Given the description of an element on the screen output the (x, y) to click on. 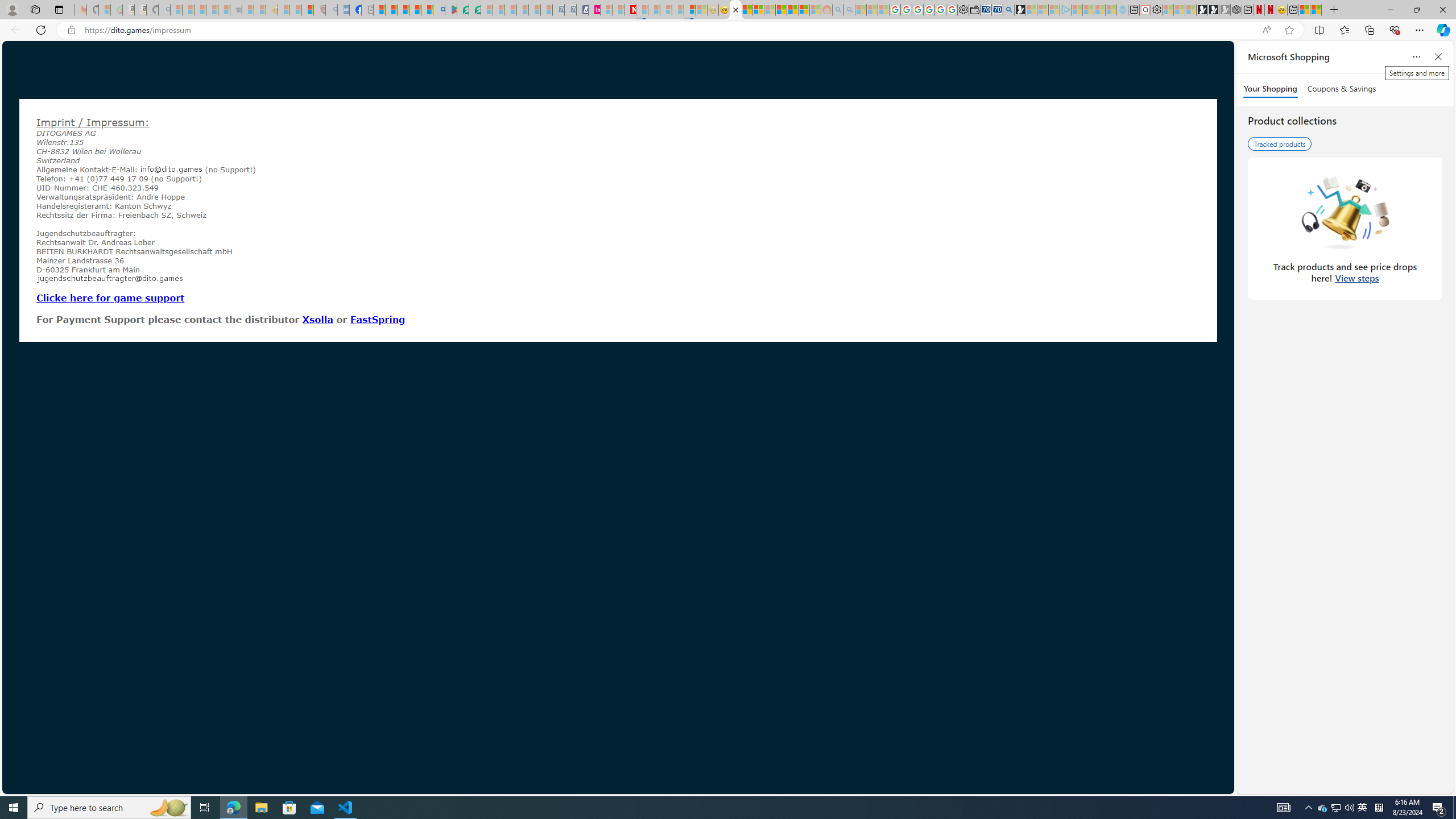
The Weather Channel - MSN - Sleeping (200, 9)
DITOGAMES AG Imprint (735, 9)
Expert Portfolios (781, 9)
14 Common Myths Debunked By Scientific Facts - Sleeping (654, 9)
Cheap Car Rentals - Save70.com (997, 9)
Bing Real Estate - Home sales and rental listings (1008, 9)
